Given the description of an element on the screen output the (x, y) to click on. 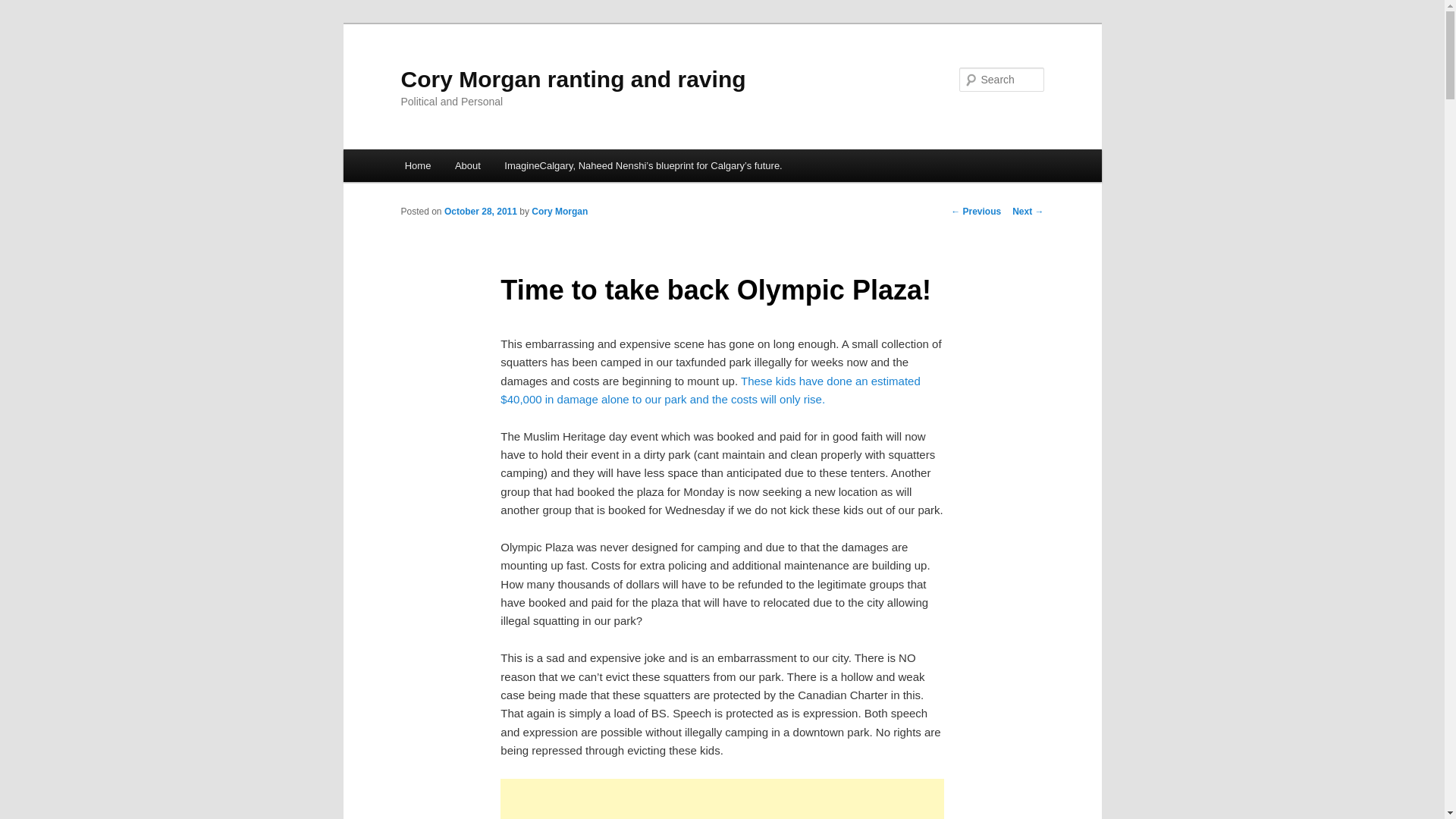
View all posts by Cory Morgan (559, 211)
Cory Morgan (559, 211)
6:26 am (480, 211)
About (467, 165)
Advertisement (721, 798)
October 28, 2011 (480, 211)
Search (24, 8)
Cory Morgan ranting and raving (572, 78)
Home (417, 165)
